Given the description of an element on the screen output the (x, y) to click on. 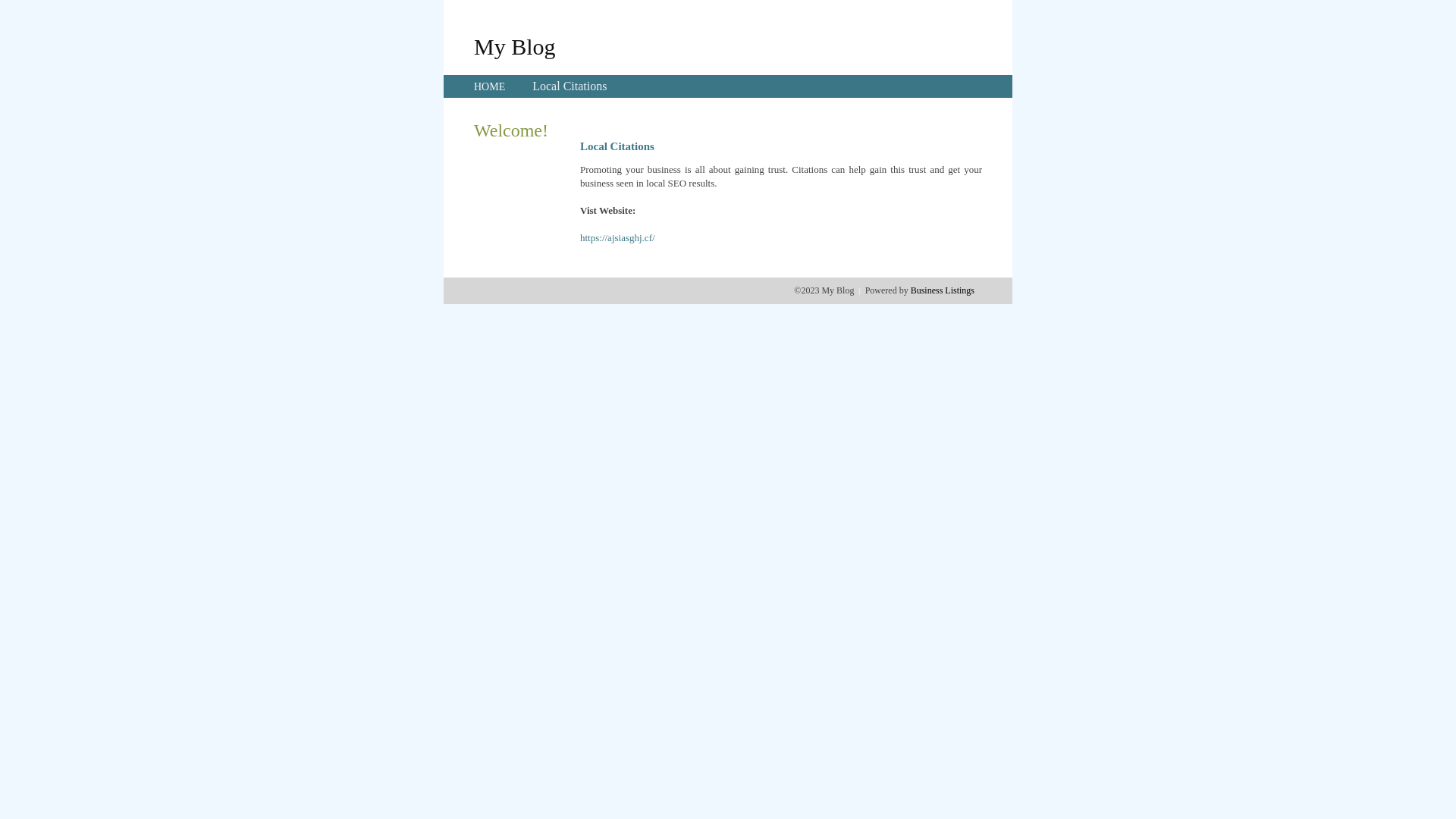
My Blog Element type: text (514, 46)
Business Listings Element type: text (942, 290)
HOME Element type: text (489, 86)
https://ajsiasghj.cf/ Element type: text (617, 237)
Local Citations Element type: text (569, 85)
